Given the description of an element on the screen output the (x, y) to click on. 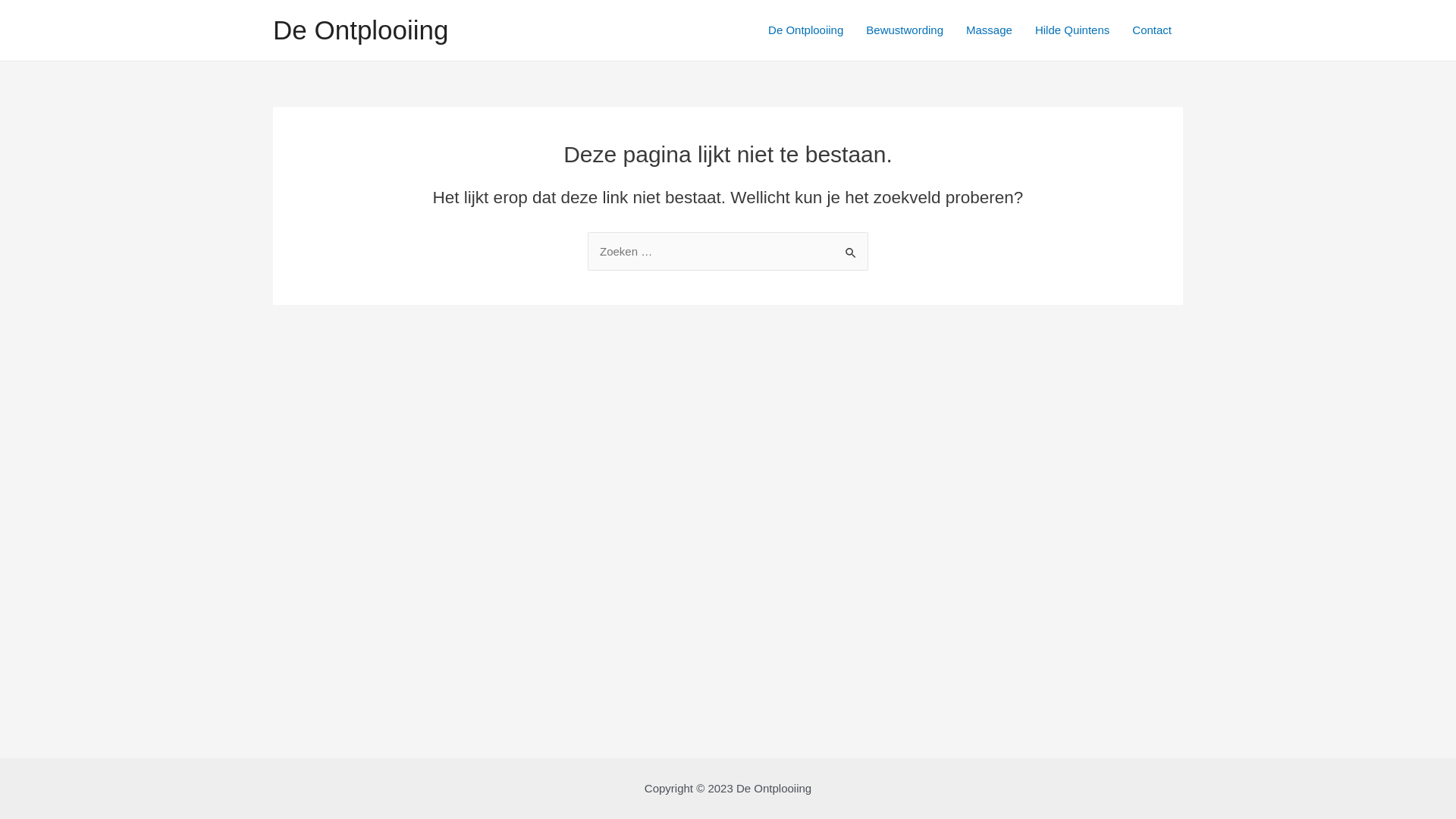
Zoeken Element type: text (851, 247)
De Ontplooiing Element type: text (360, 29)
Bewustwording Element type: text (904, 30)
Massage Element type: text (988, 30)
De Ontplooiing Element type: text (805, 30)
Contact Element type: text (1151, 30)
Hilde Quintens Element type: text (1071, 30)
